Given the description of an element on the screen output the (x, y) to click on. 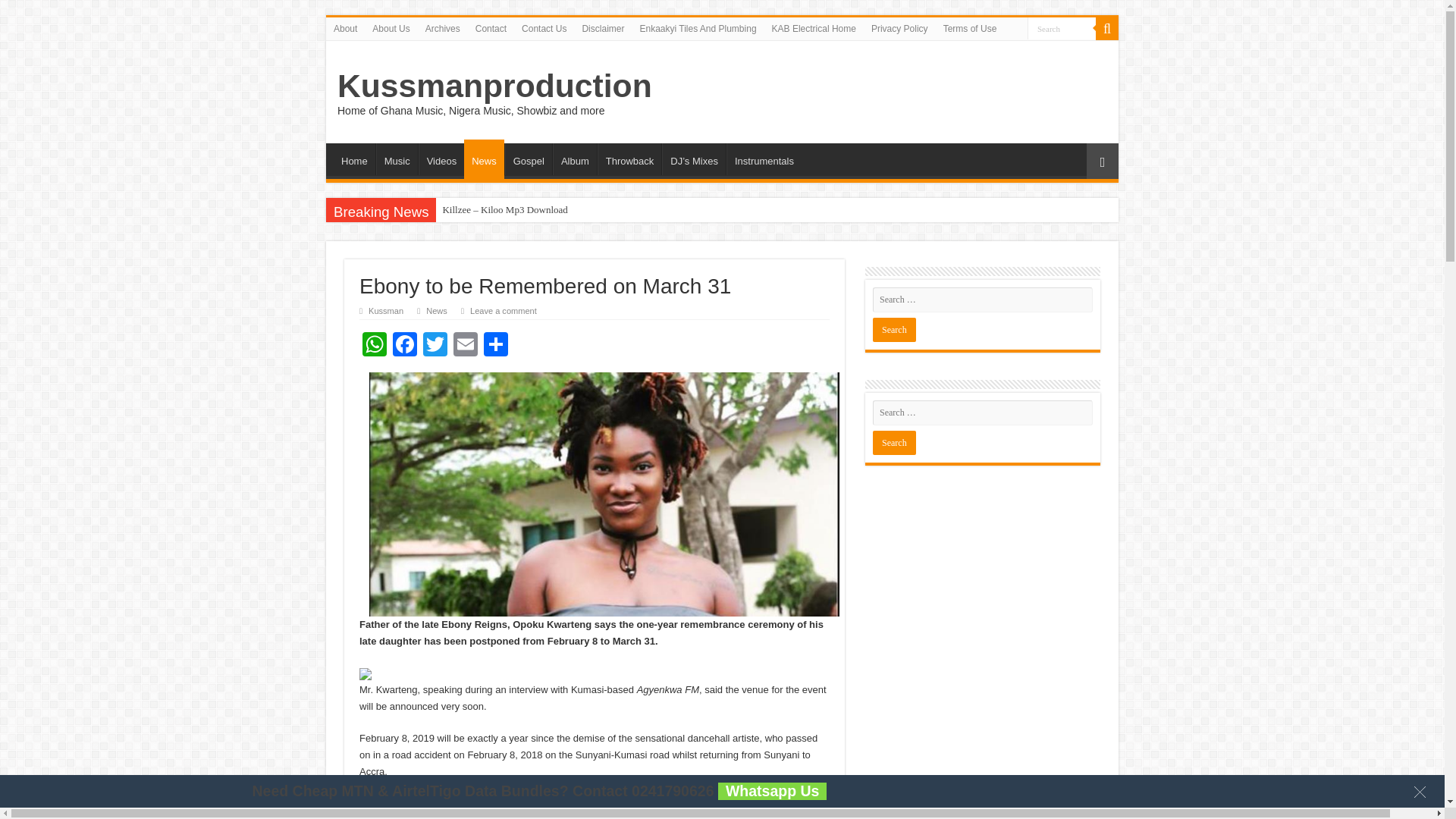
Search (893, 329)
About (345, 28)
Terms of Use (970, 28)
News (483, 159)
Search (1061, 28)
Disclaimer (602, 28)
Kussmanproduction (494, 85)
Privacy Policy (899, 28)
Album (574, 159)
Search (893, 442)
Instrumentals (764, 159)
Gospel (528, 159)
Search (1107, 28)
Search (1061, 28)
Contact (490, 28)
